Given the description of an element on the screen output the (x, y) to click on. 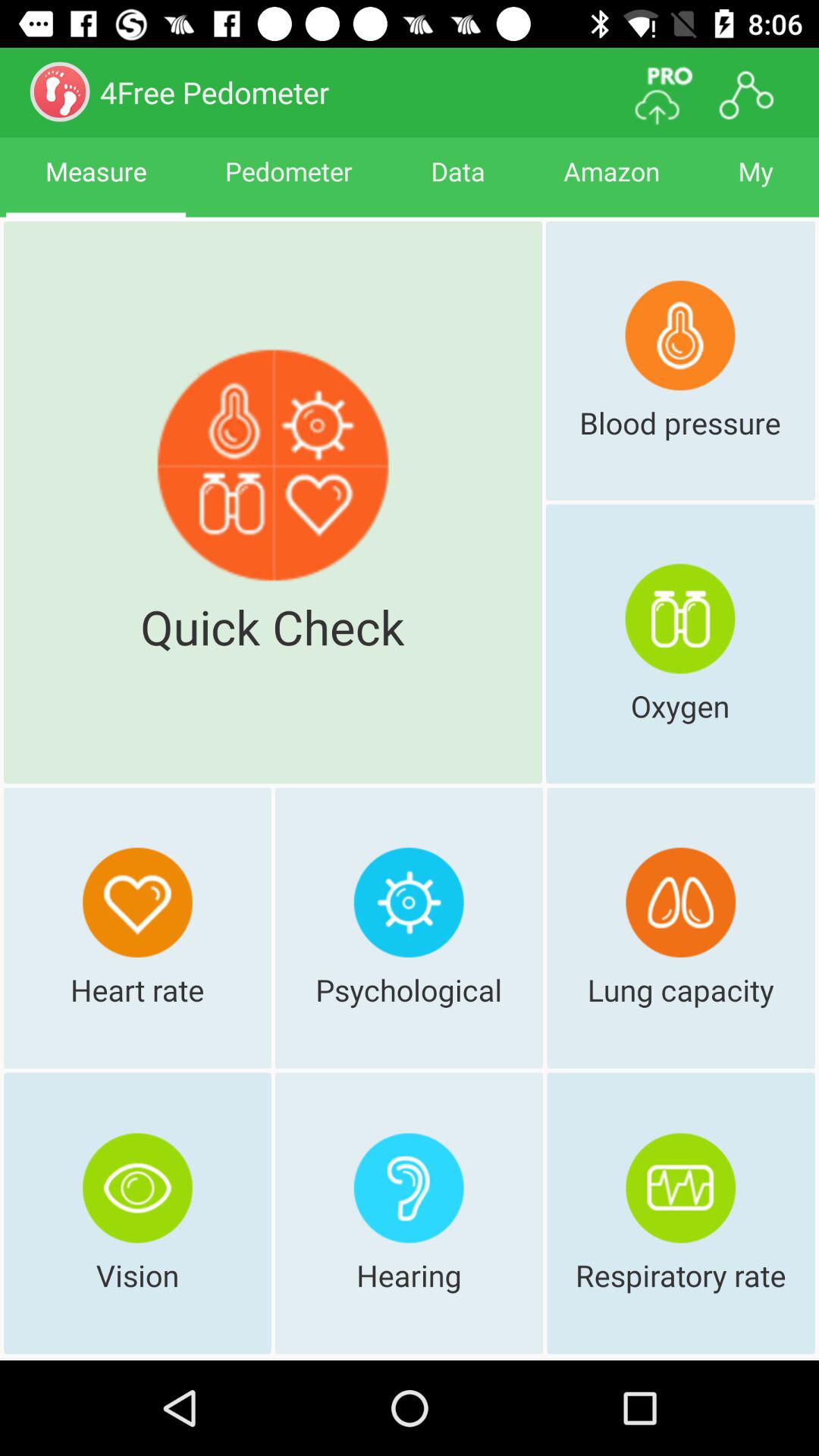
scroll to the amazon app (611, 185)
